Given the description of an element on the screen output the (x, y) to click on. 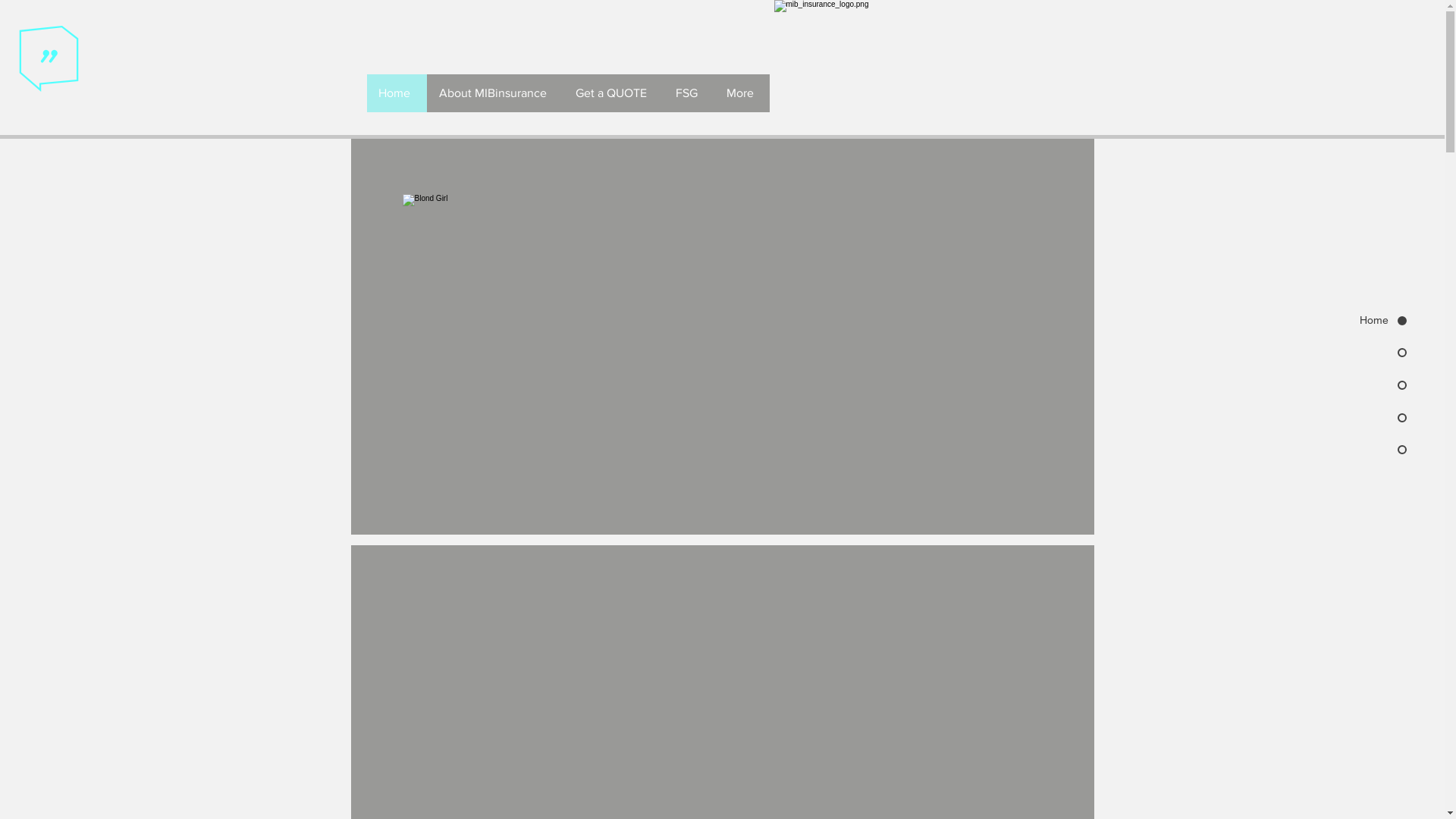
Home Element type: text (396, 93)
About MIBinsurance Element type: text (494, 93)
FSG Element type: text (687, 93)
Get a QUOTE Element type: text (612, 93)
Home Element type: text (1343, 320)
